Given the description of an element on the screen output the (x, y) to click on. 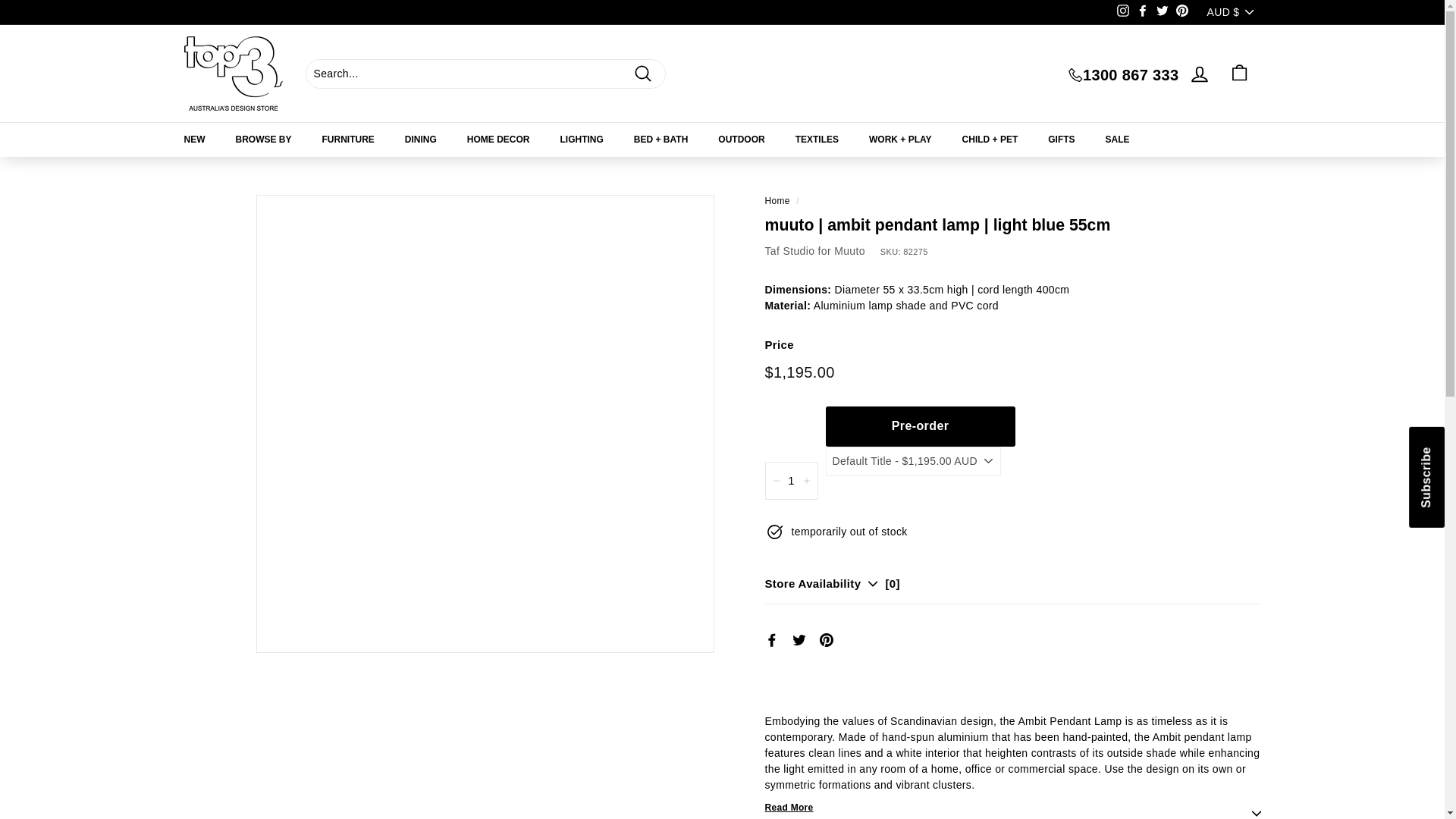
NEW (193, 139)
top3 by design on Pinterest (1182, 12)
top3 by design on Twitter (1162, 12)
Back to the frontpage (776, 200)
FURNITURE (348, 139)
1 (790, 480)
top3 by design on Facebook (1142, 12)
Pinterest (1182, 12)
Facebook (1142, 12)
